Given the description of an element on the screen output the (x, y) to click on. 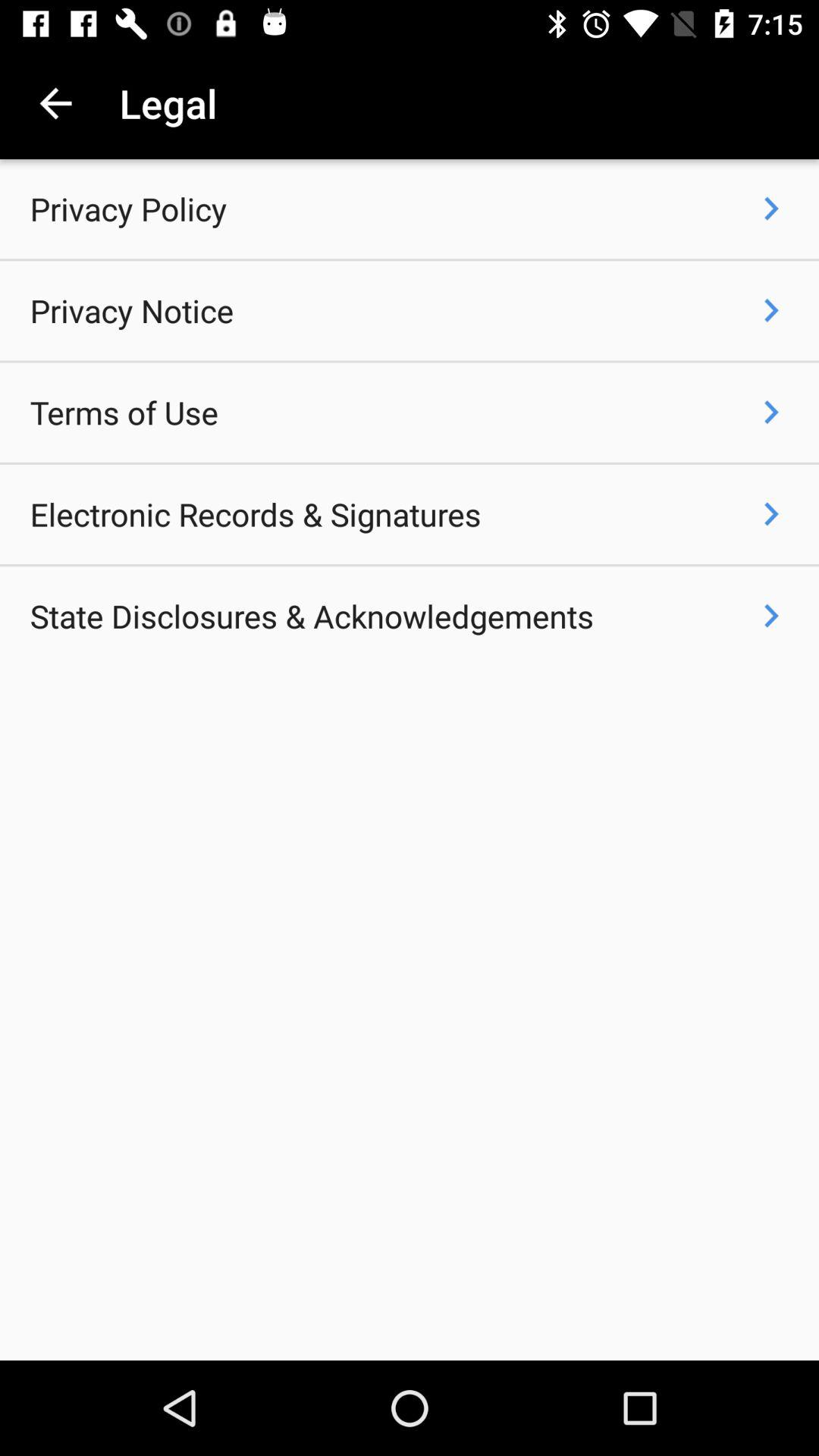
click icon to the right of privacy policy icon (771, 208)
